Given the description of an element on the screen output the (x, y) to click on. 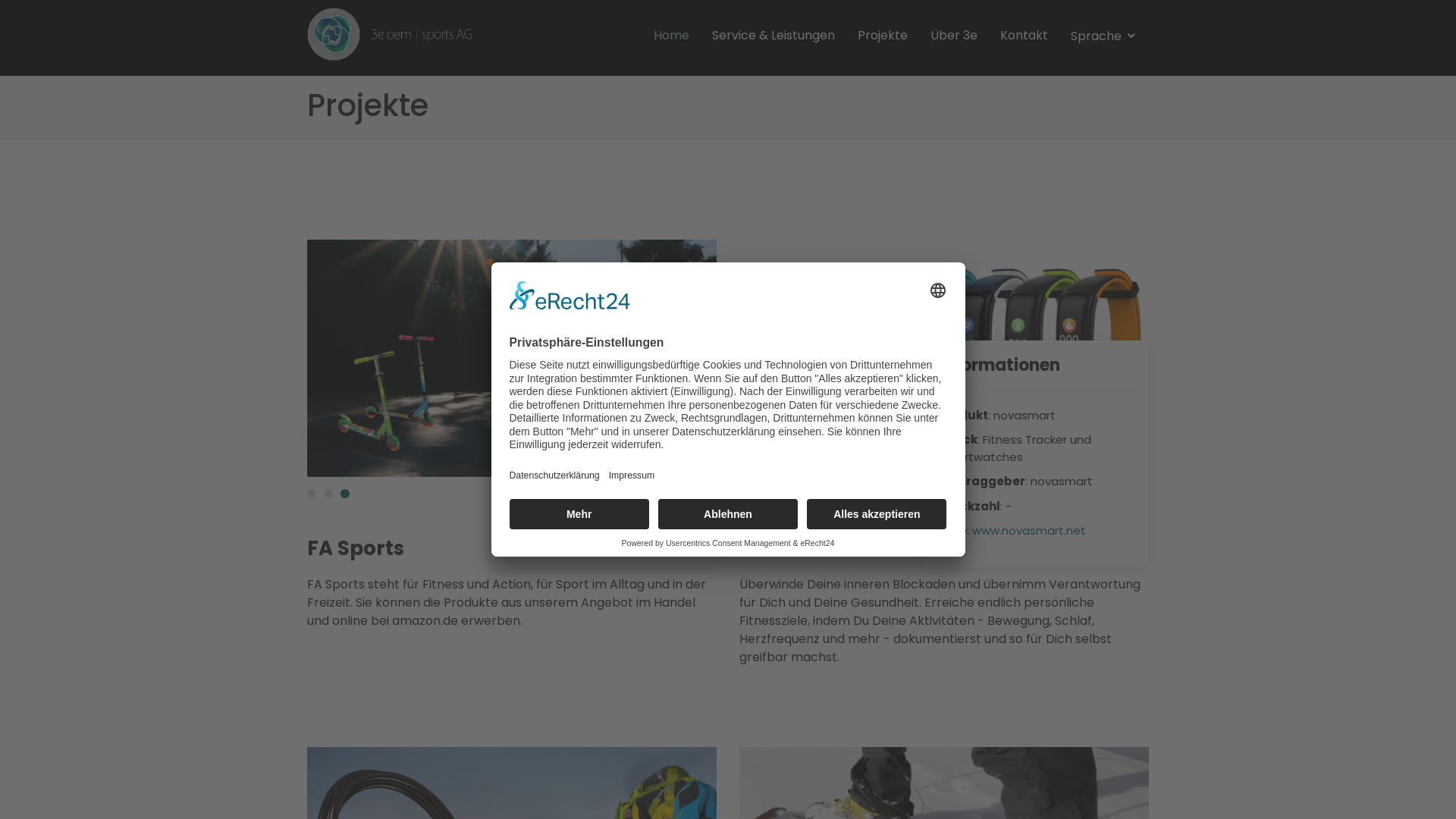
Kontakt Element type: text (1023, 35)
Service & Leistungen Element type: text (773, 35)
Sprache Element type: text (1103, 35)
3e oem sports AG - Partner der Sportindustrie Element type: hover (390, 32)
Home Element type: text (671, 35)
www.novasmart.net Element type: text (1028, 530)
3e oem sports AG - Partner der Sportindustrie Element type: hover (390, 33)
www.fa-sports.eu Element type: text (589, 530)
Projekte Element type: text (882, 35)
FA Sports Online - Sport im Alltag und in der Freizeit Element type: hover (511, 357)
